Given the description of an element on the screen output the (x, y) to click on. 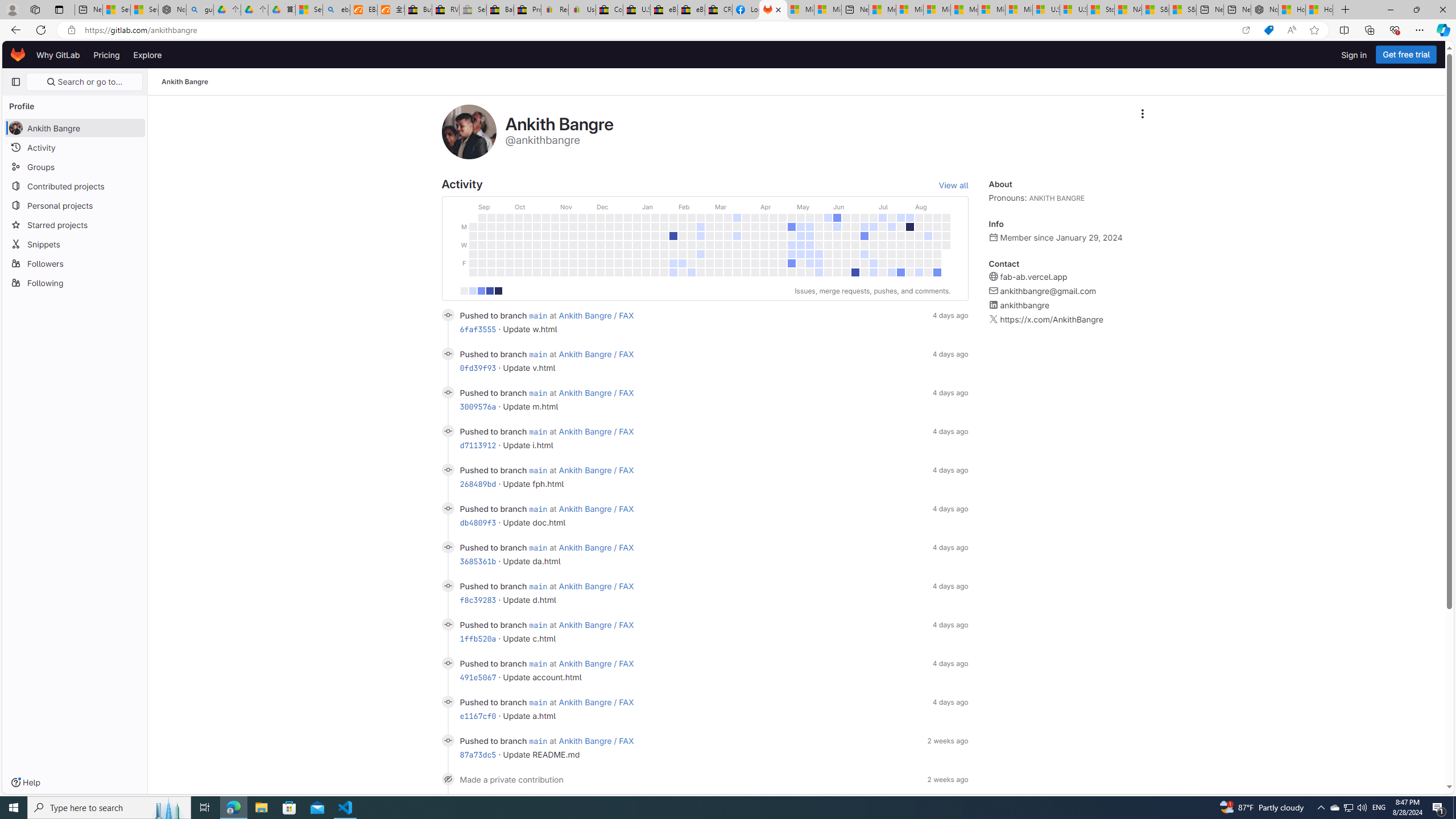
Activity (74, 147)
491e5067 (478, 677)
